Given the description of an element on the screen output the (x, y) to click on. 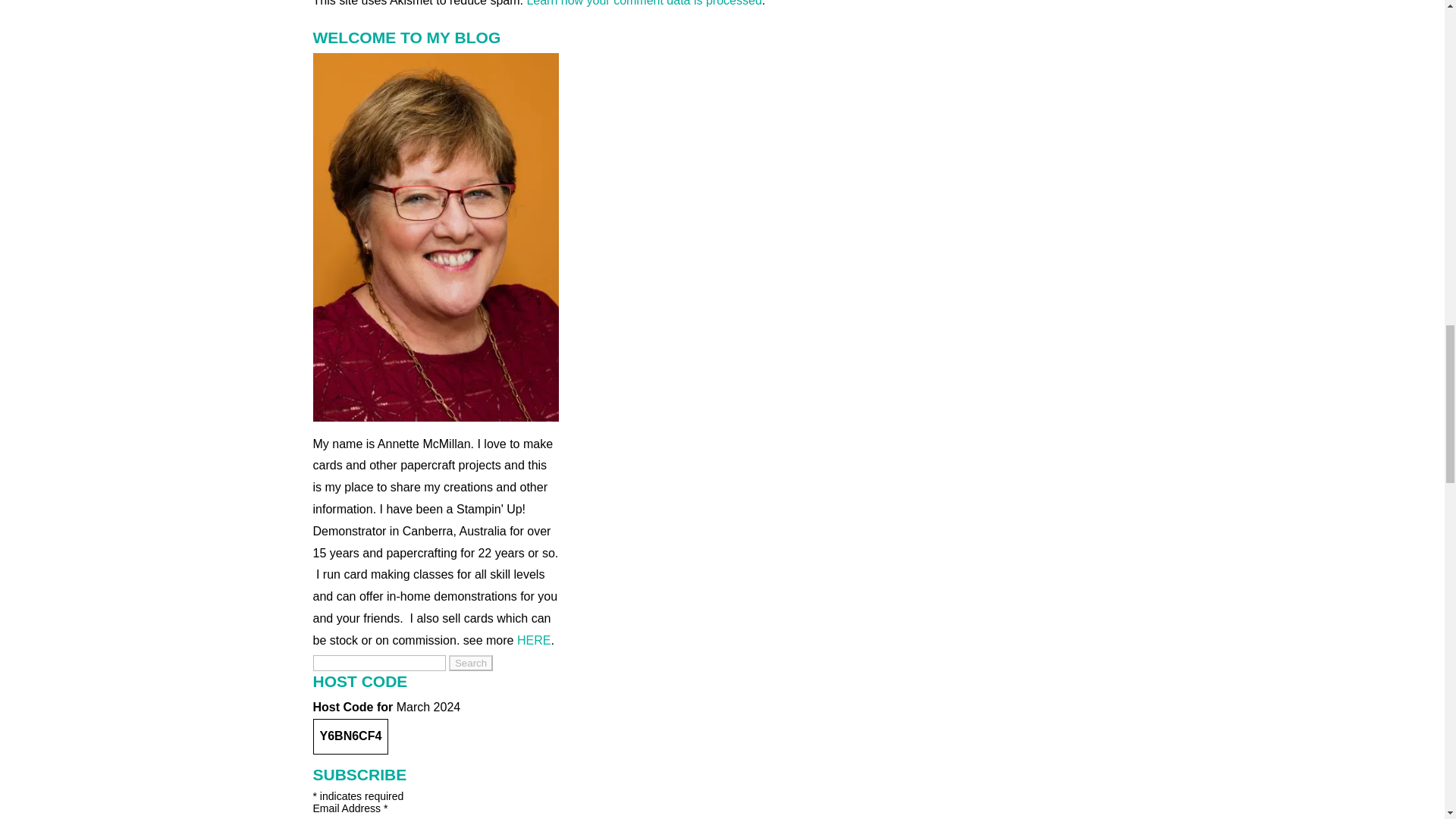
HERE (533, 640)
Learn how your comment data is processed (643, 3)
Search (470, 662)
Search (470, 662)
